Given the description of an element on the screen output the (x, y) to click on. 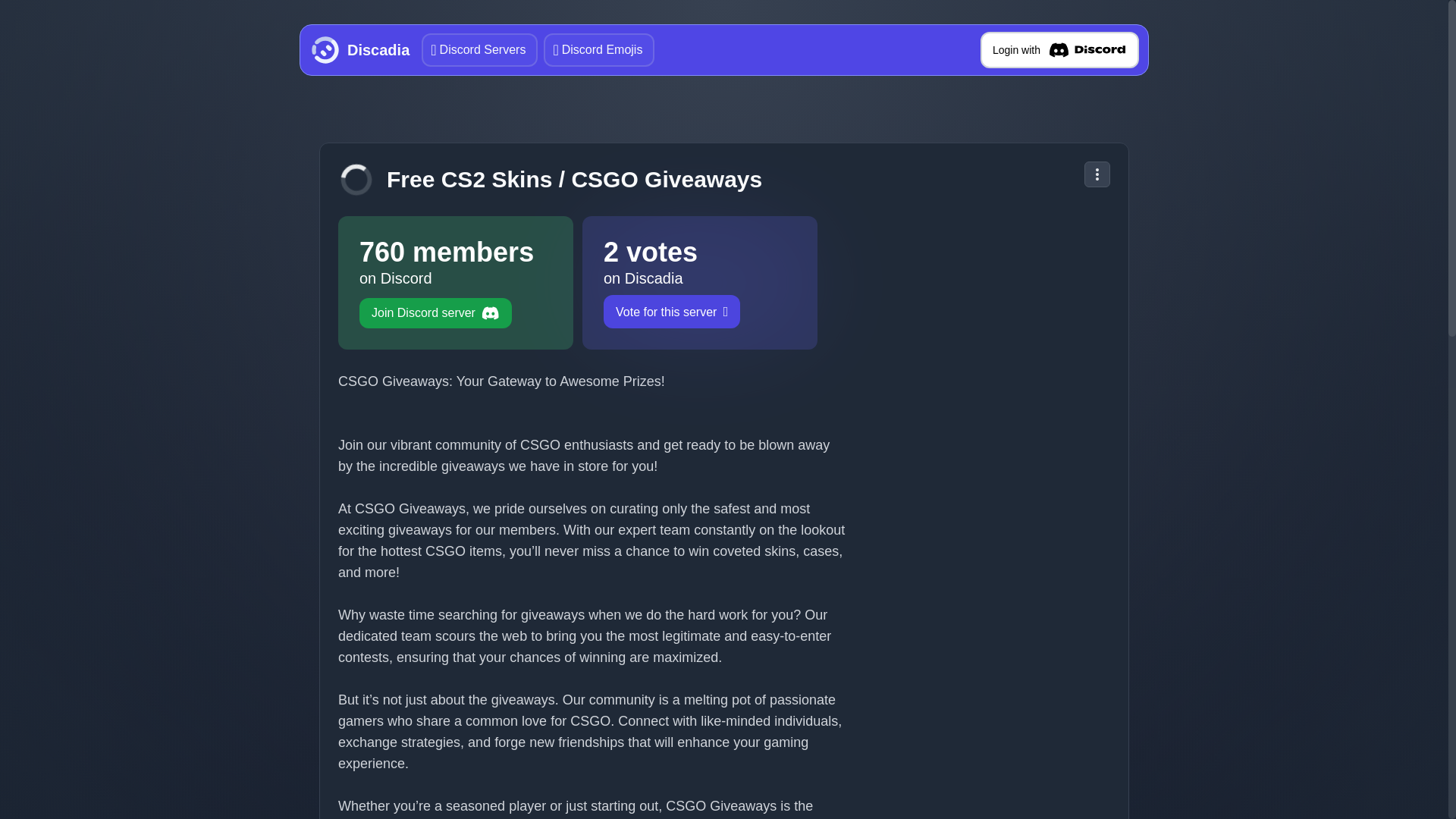
Login with (1058, 49)
Discadia (357, 49)
Discord Emojis (598, 49)
Discord Servers (479, 49)
